Given the description of an element on the screen output the (x, y) to click on. 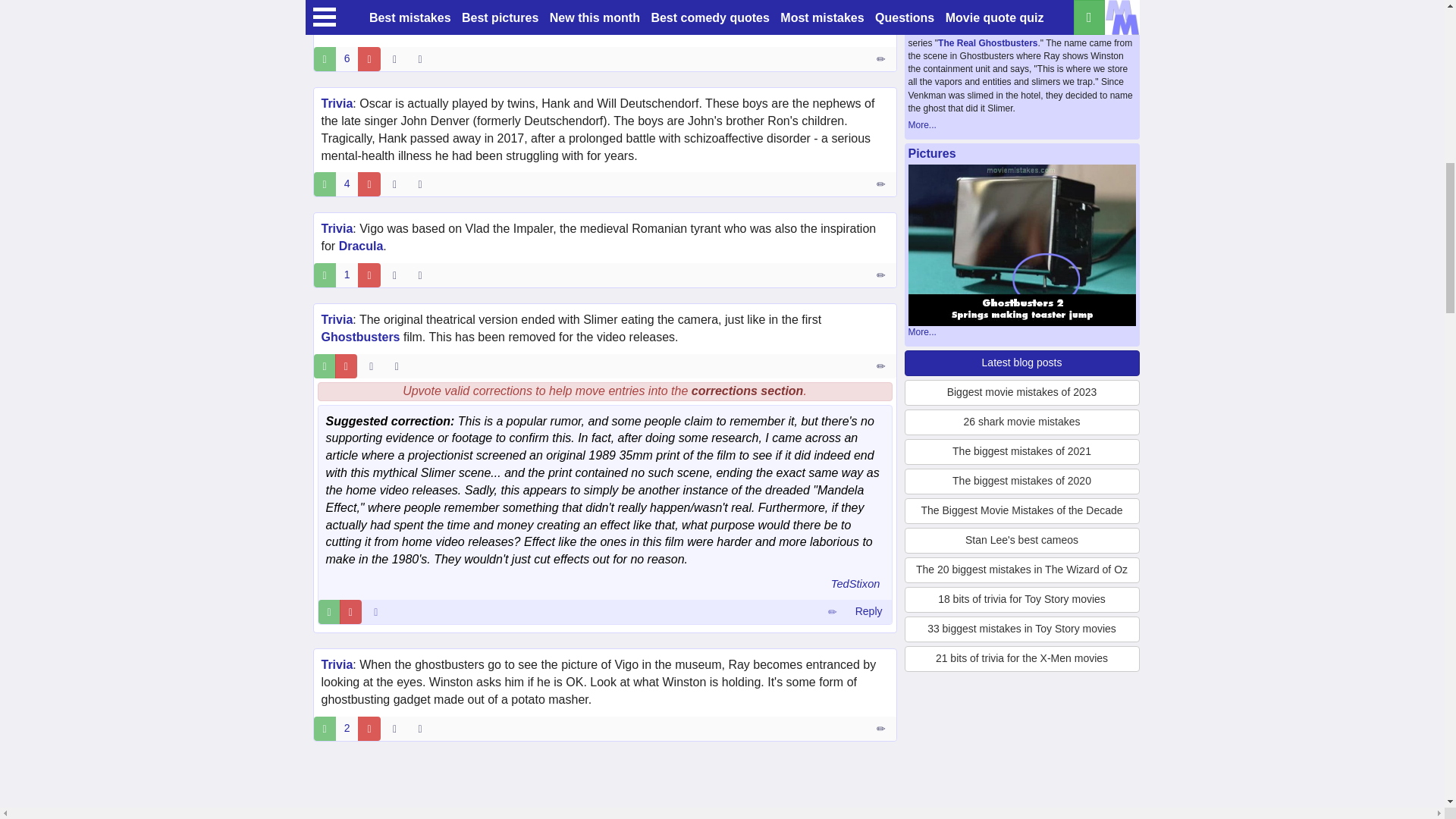
Share this entry (423, 58)
I dislike this (369, 58)
I like this (325, 58)
